Given the description of an element on the screen output the (x, y) to click on. 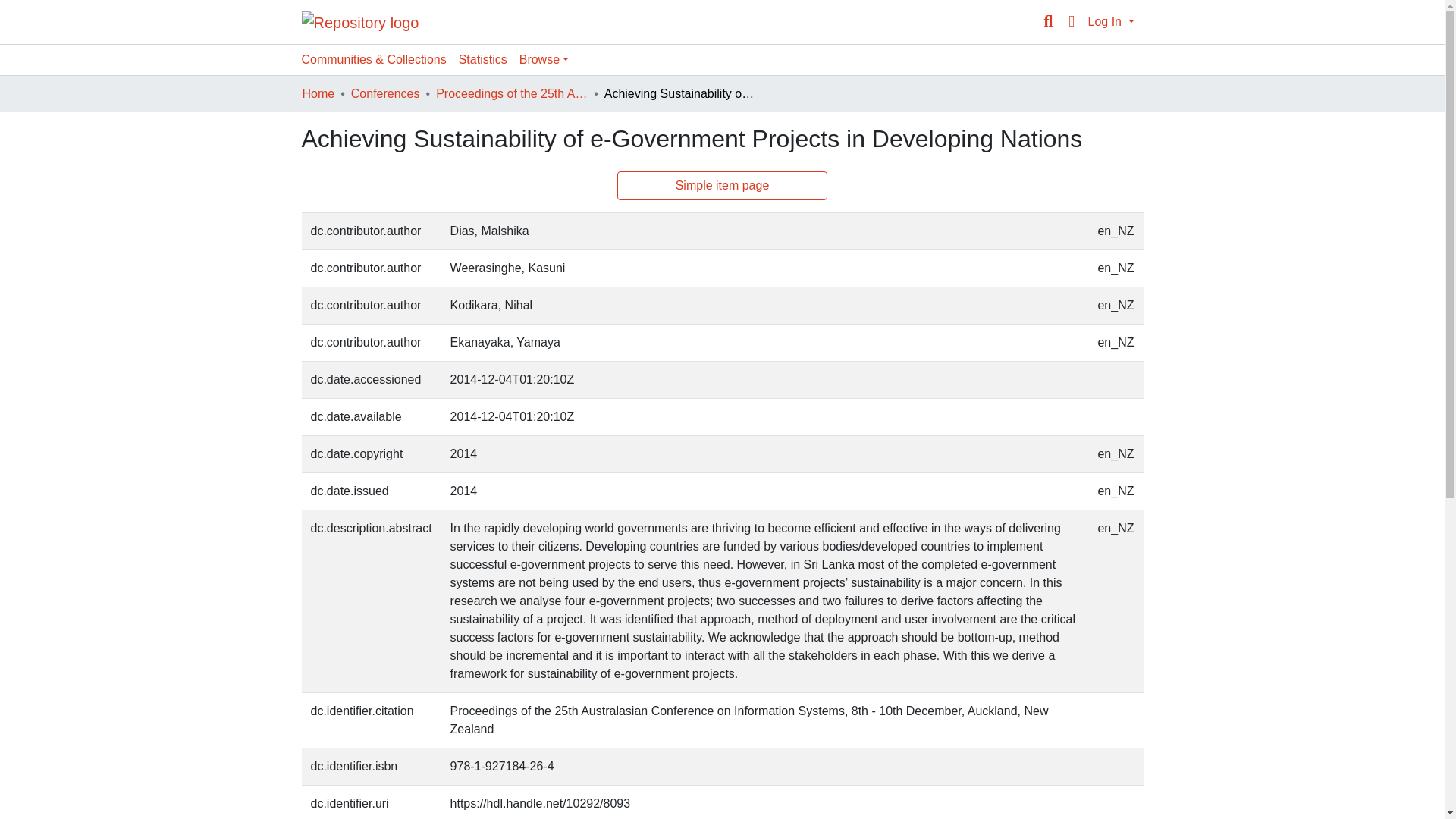
Search (1048, 22)
Log In (1110, 21)
Browse (544, 60)
Statistics (482, 60)
Simple item page (722, 185)
Statistics (482, 60)
Home (317, 94)
Conferences (385, 94)
Language switch (1071, 22)
